Given the description of an element on the screen output the (x, y) to click on. 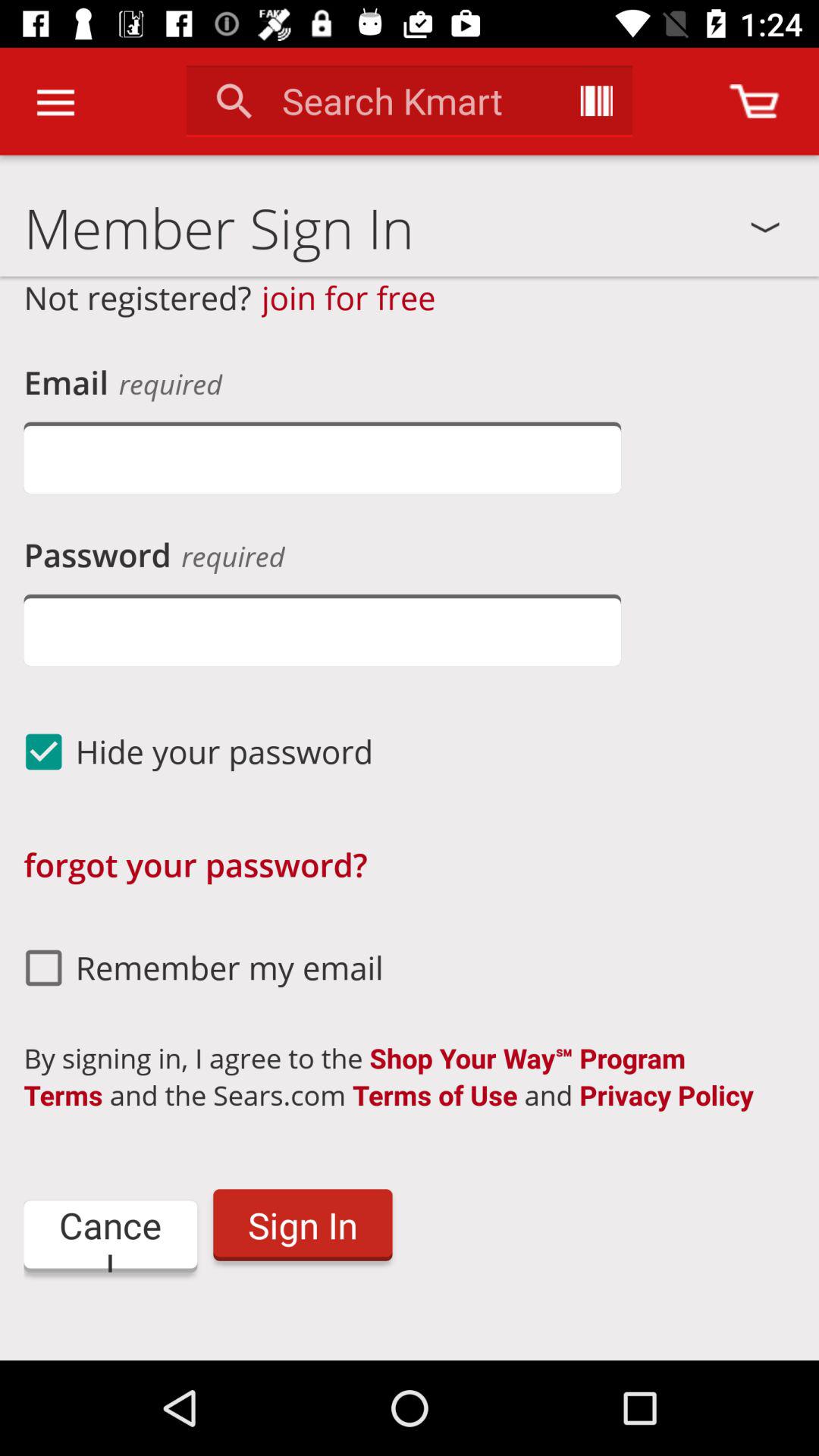
turn on the icon below the email (322, 457)
